Given the description of an element on the screen output the (x, y) to click on. 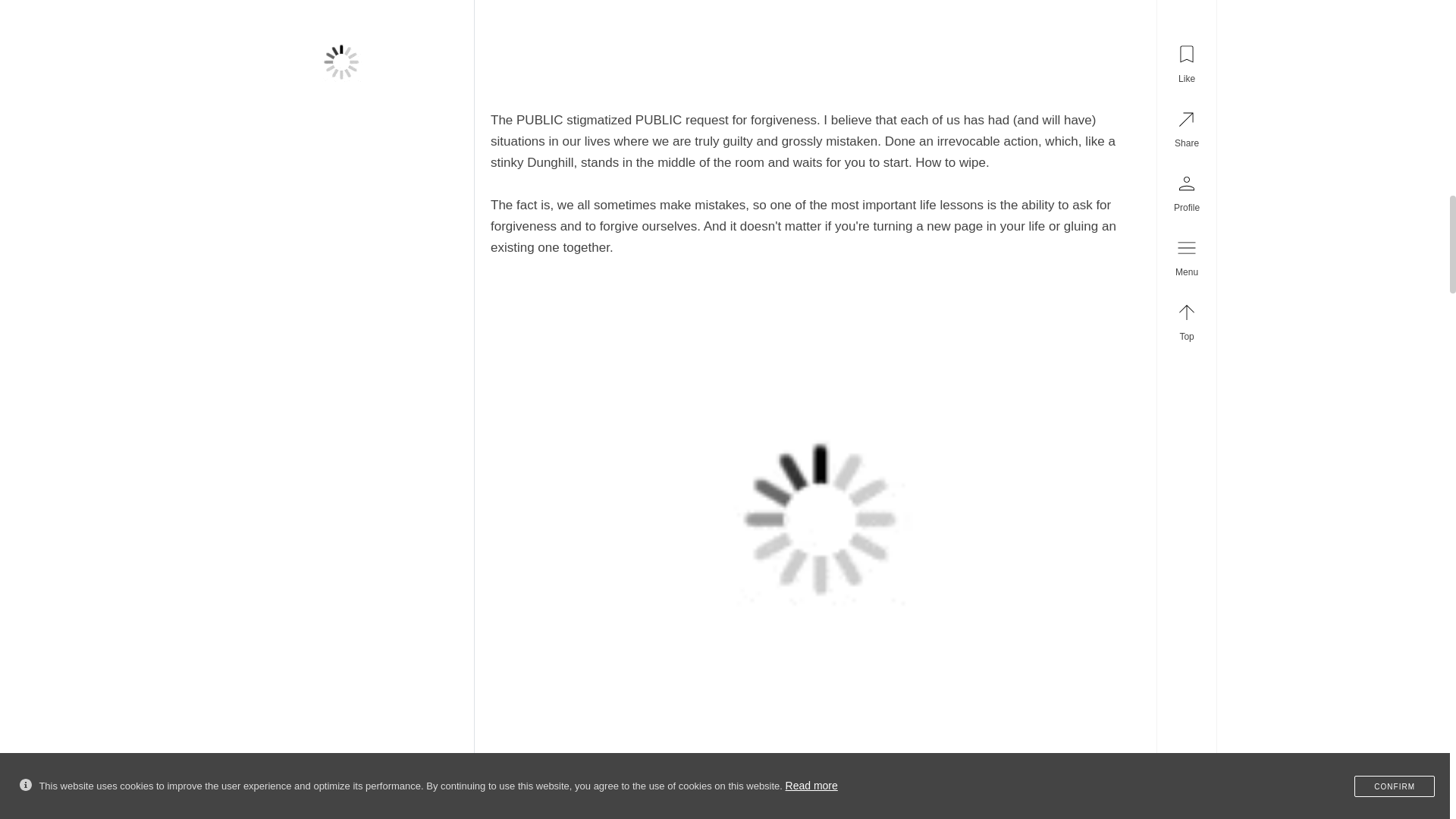
Lane Productions Mallorca Wedding Planner (340, 61)
